Given the description of an element on the screen output the (x, y) to click on. 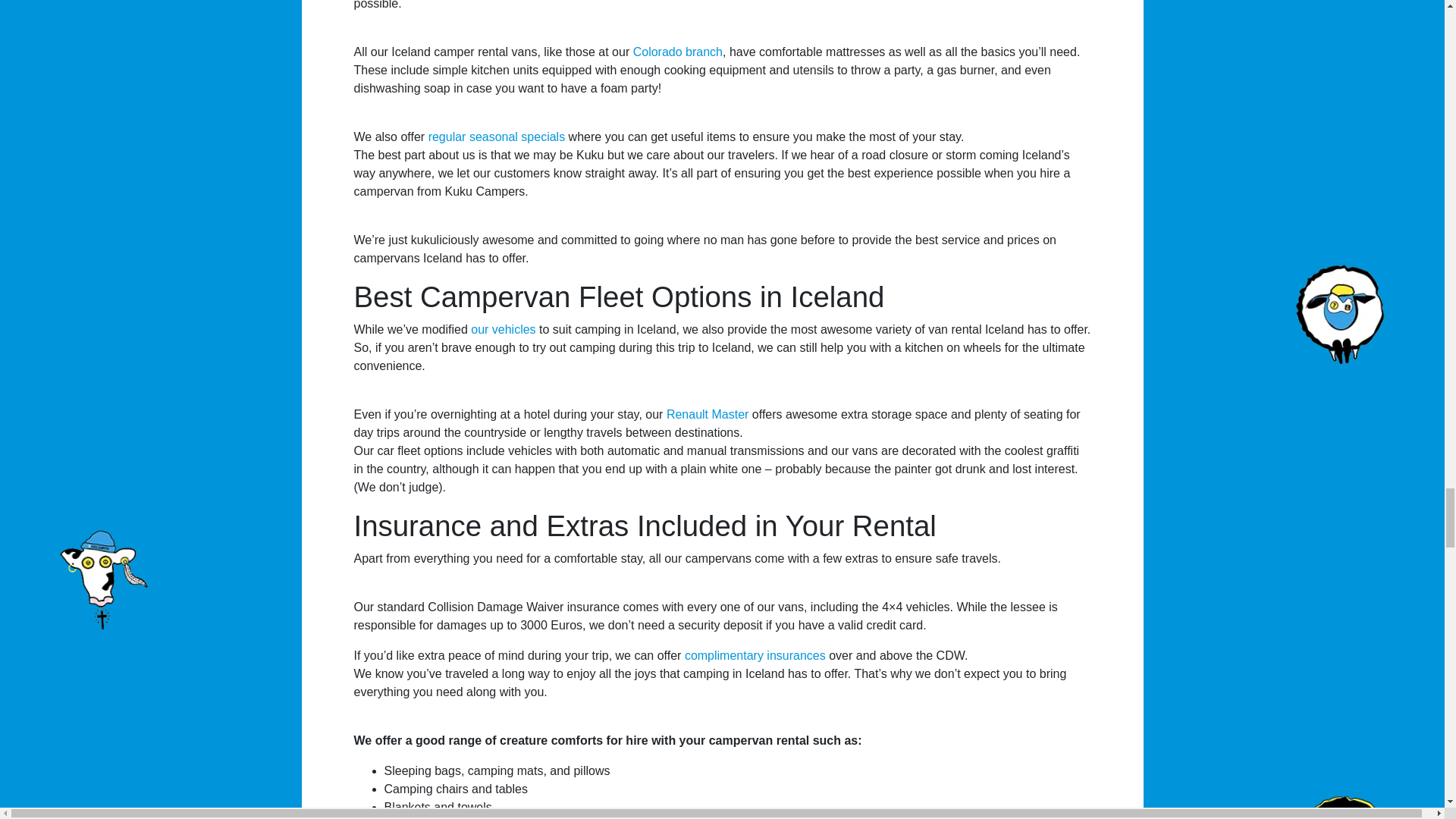
Kuku Campers Colorado (677, 51)
regular seasonal specials (497, 136)
Kuku Campers fleet (502, 328)
Renault Master camper (707, 413)
complimentary camper rental insurances (754, 655)
